Given the description of an element on the screen output the (x, y) to click on. 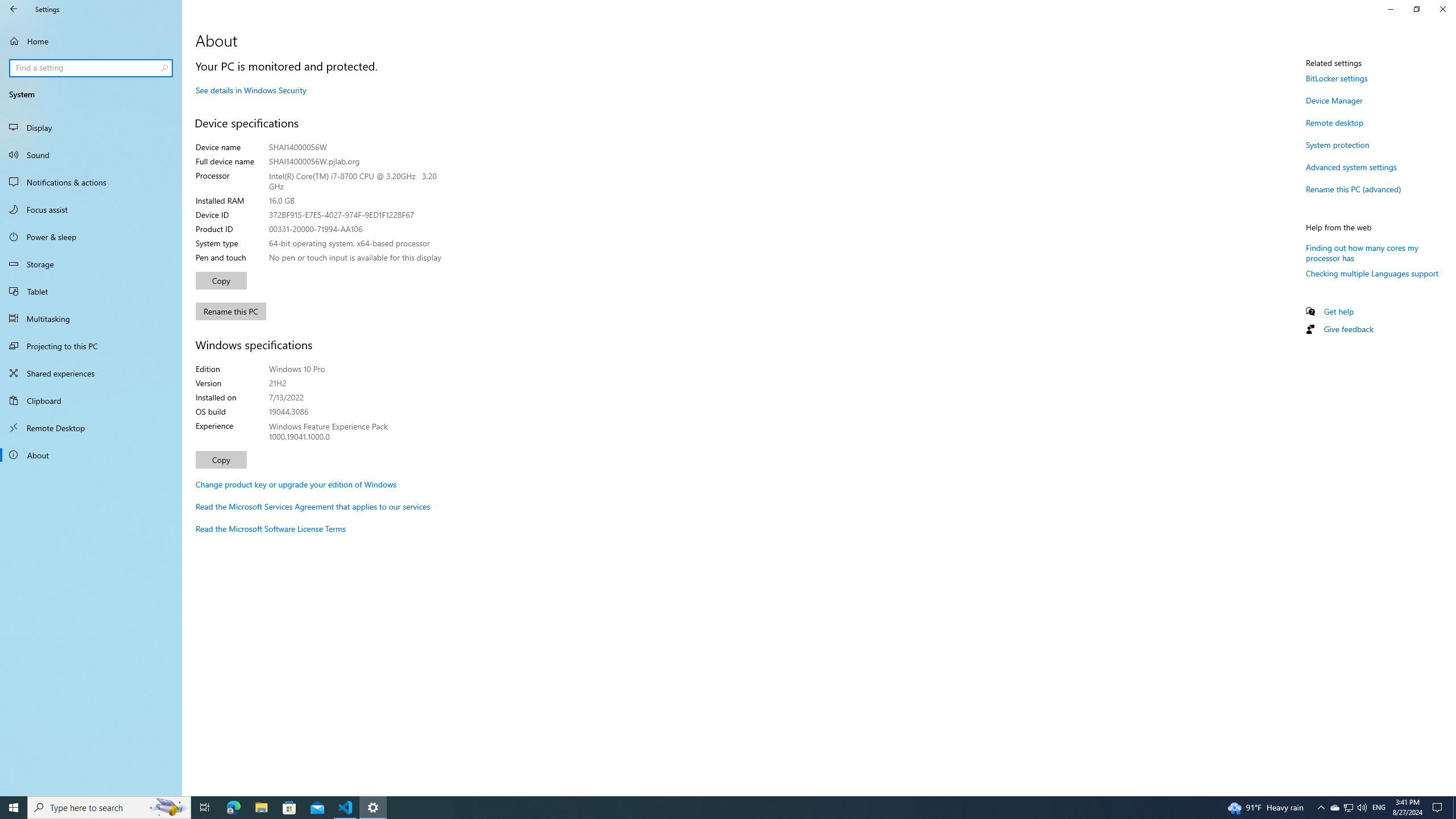
Remote desktop (1335, 122)
Multitasking (91, 318)
Change product key or upgrade your edition of Windows (296, 484)
Shared experiences (91, 372)
Checking multiple Languages support (1372, 272)
Projecting to this PC (91, 345)
Rename this PC (230, 311)
See details in Windows Security (251, 89)
Storage (91, 263)
